Given the description of an element on the screen output the (x, y) to click on. 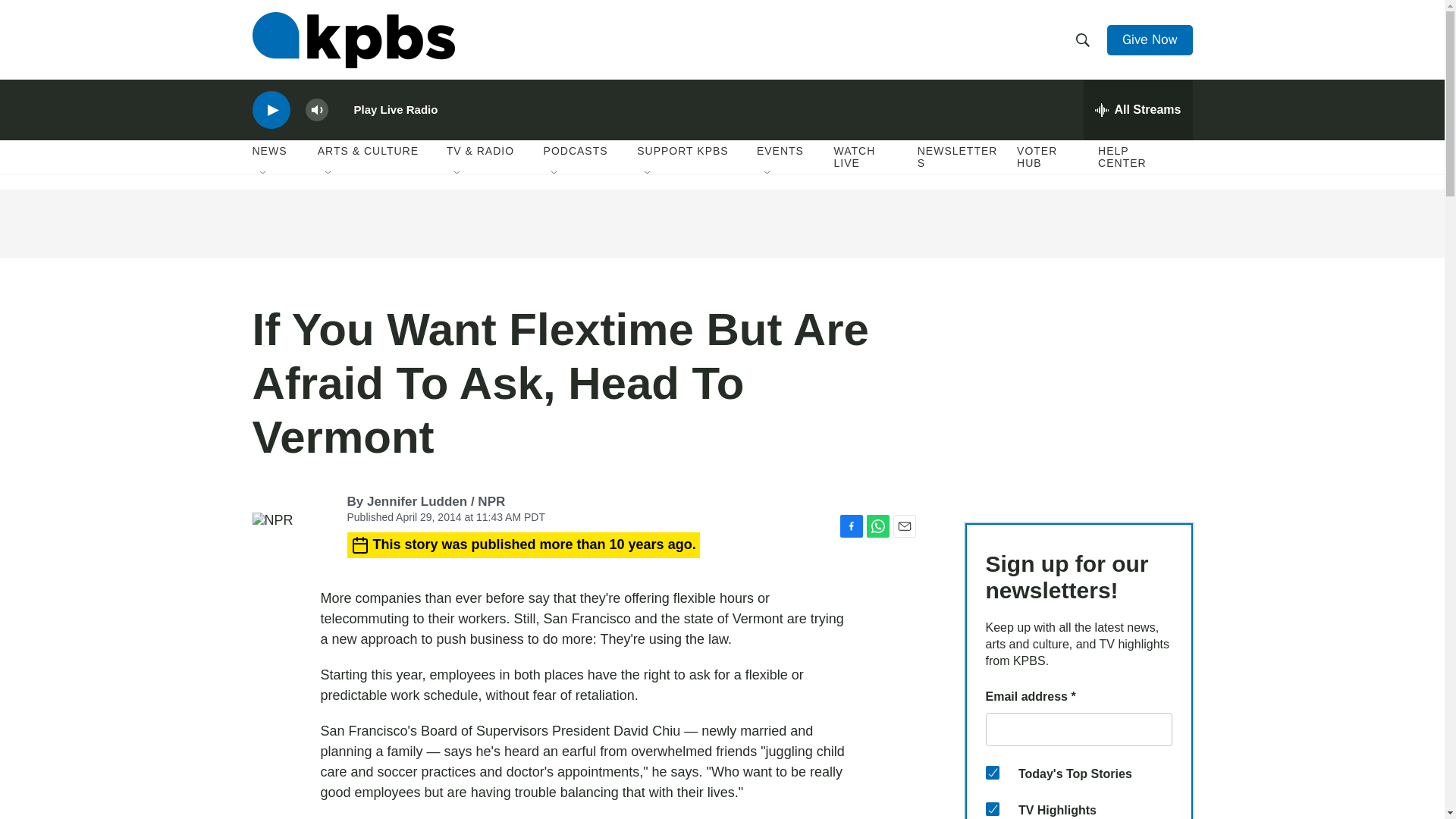
4 (991, 772)
3rd party ad content (1077, 398)
3rd party ad content (721, 223)
5 (991, 808)
